Given the description of an element on the screen output the (x, y) to click on. 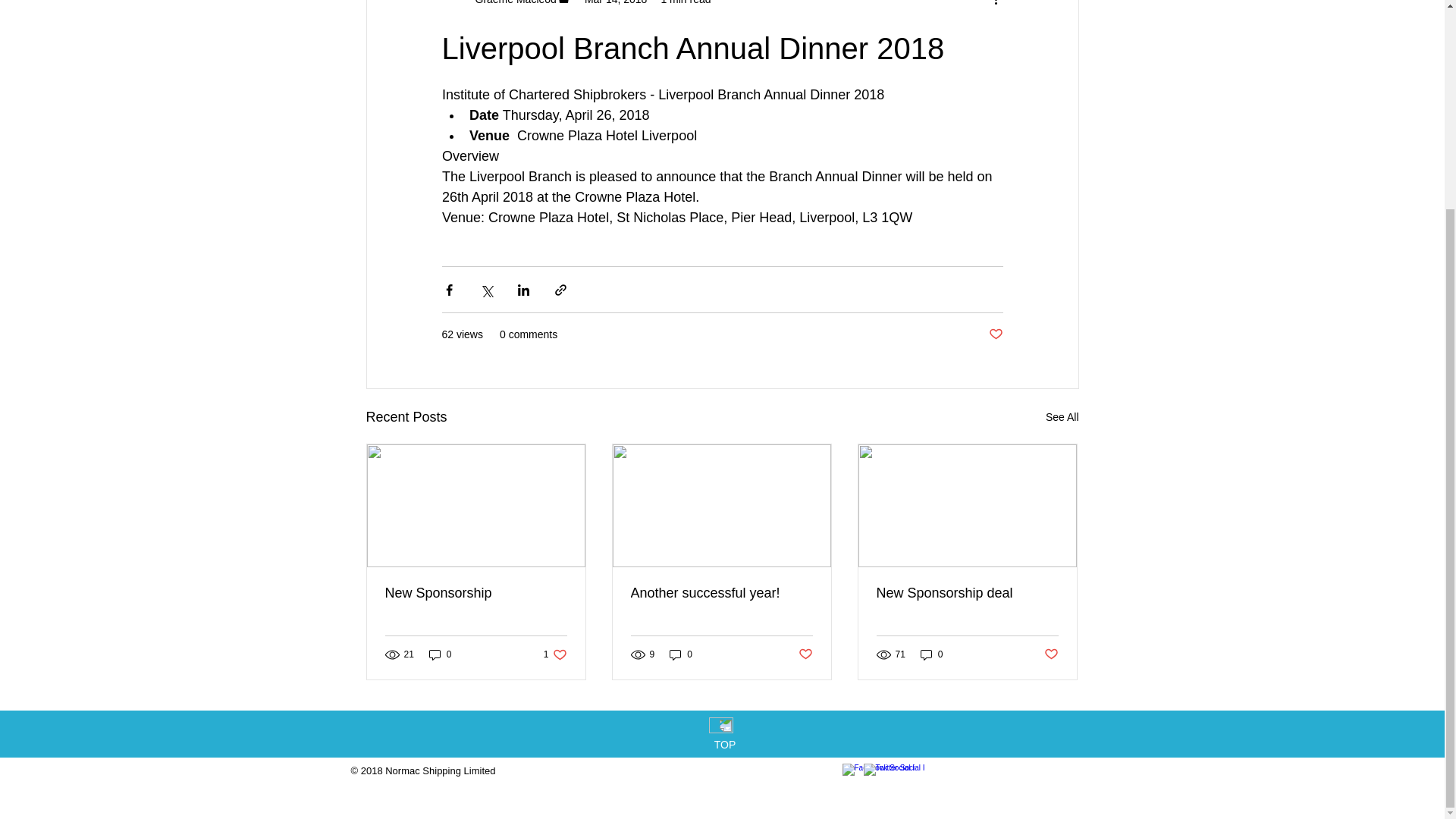
Post not marked as liked (995, 334)
Twitter Follow (919, 772)
0 (931, 654)
TOP (725, 744)
0 (440, 654)
1 min read (685, 2)
Mar 14, 2018 (555, 654)
See All (616, 2)
Post not marked as liked (1061, 417)
New Sponsorship deal (1050, 653)
Another successful year! (967, 593)
Post not marked as liked (721, 593)
0 (804, 653)
New Sponsorship (681, 654)
